Given the description of an element on the screen output the (x, y) to click on. 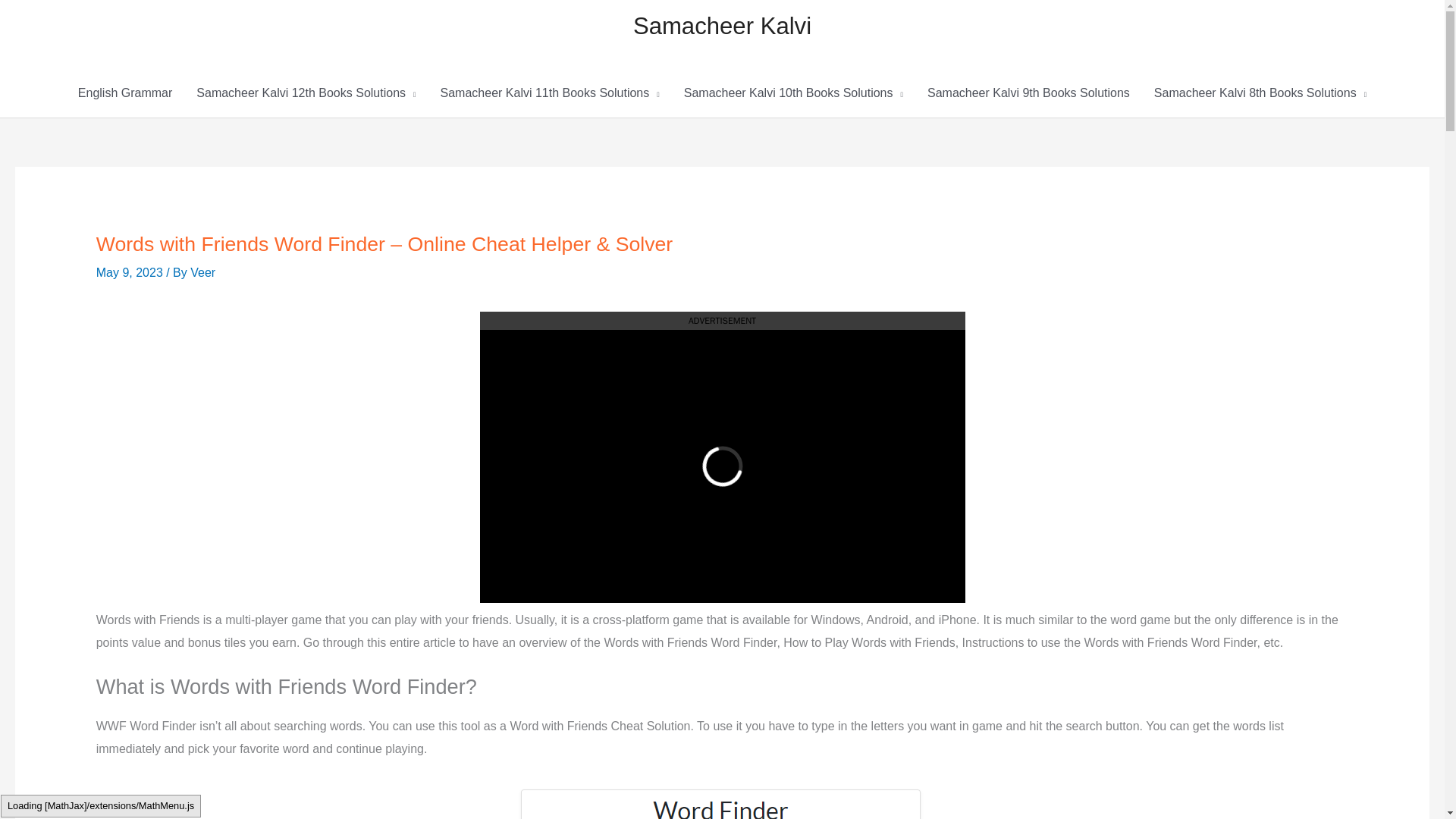
View all posts by Veer (202, 272)
Samacheer Kalvi 9th Books Solutions (1028, 92)
English Grammar (124, 92)
Samacheer Kalvi 11th Books Solutions (549, 92)
Samacheer Kalvi 8th Books Solutions (1259, 92)
Veer (202, 272)
Samacheer Kalvi (721, 26)
Samacheer Kalvi 10th Books Solutions (793, 92)
Samacheer Kalvi 12th Books Solutions (306, 92)
